Given the description of an element on the screen output the (x, y) to click on. 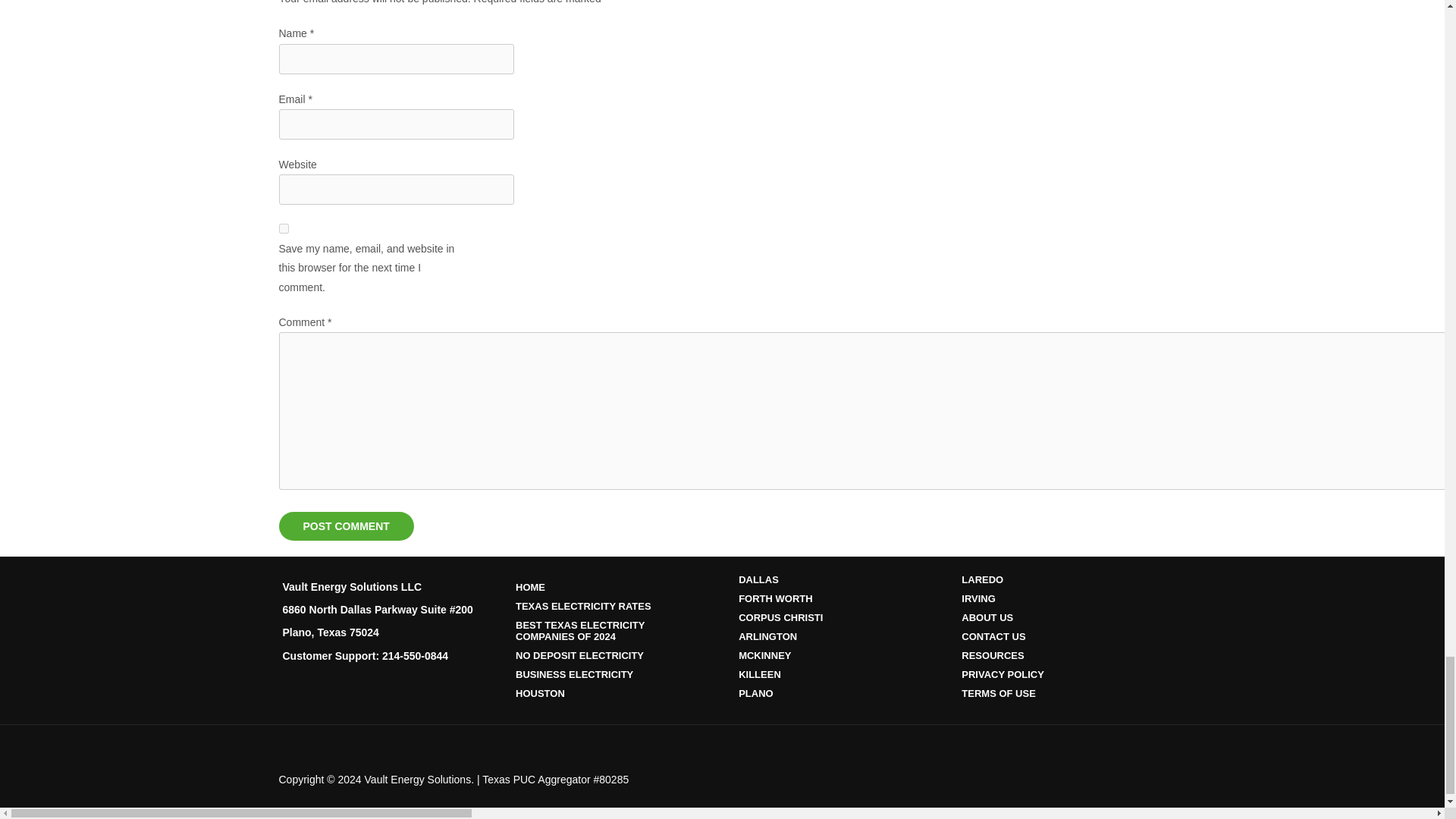
yes (283, 228)
Post Comment (346, 525)
Post Comment (346, 525)
